Given the description of an element on the screen output the (x, y) to click on. 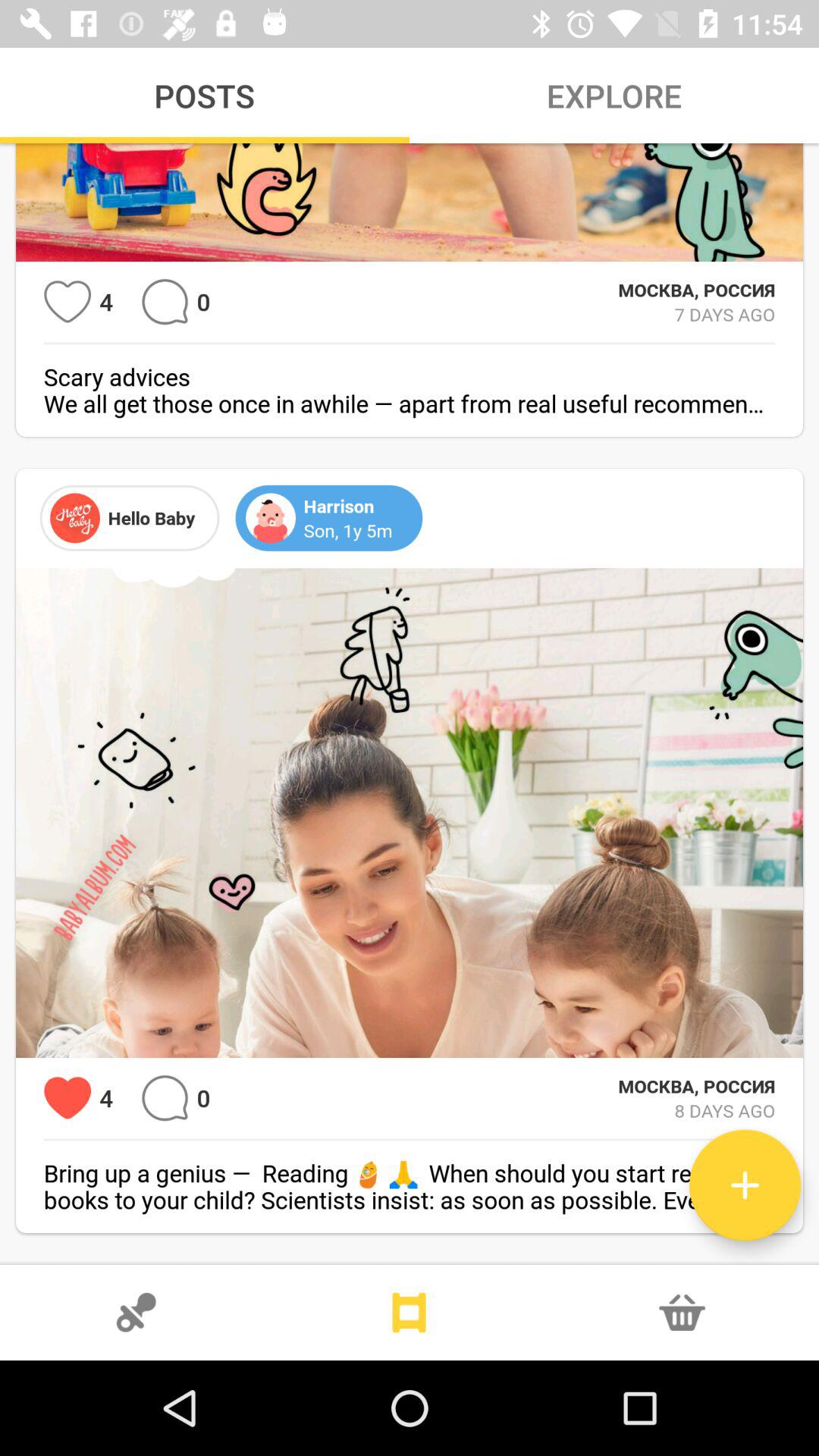
slides (409, 1312)
